Given the description of an element on the screen output the (x, y) to click on. 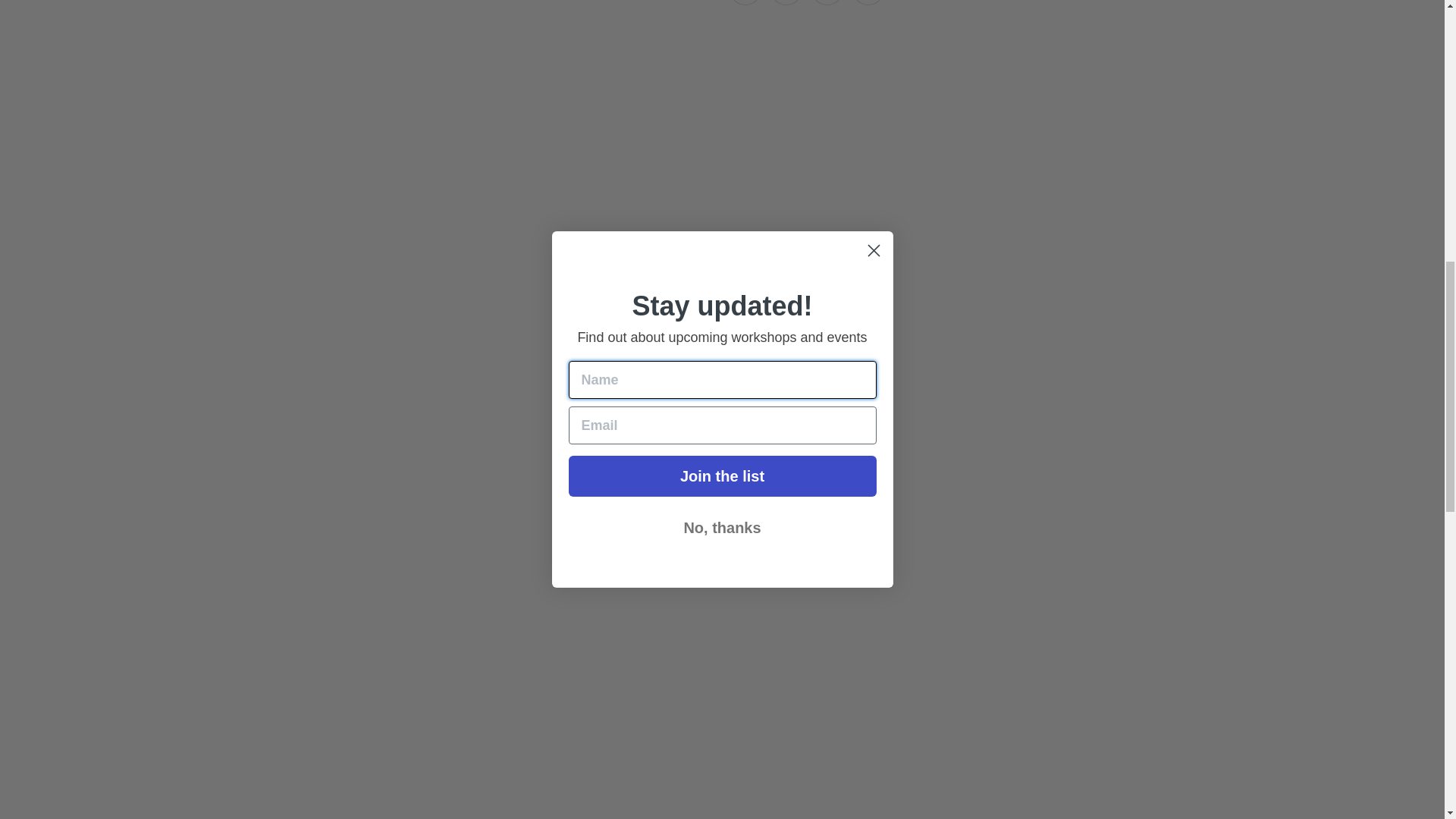
Email this to a friend (868, 2)
Share this on Twitter (744, 2)
Share this on Facebook (786, 2)
Share this on Pinterest (827, 2)
